Given the description of an element on the screen output the (x, y) to click on. 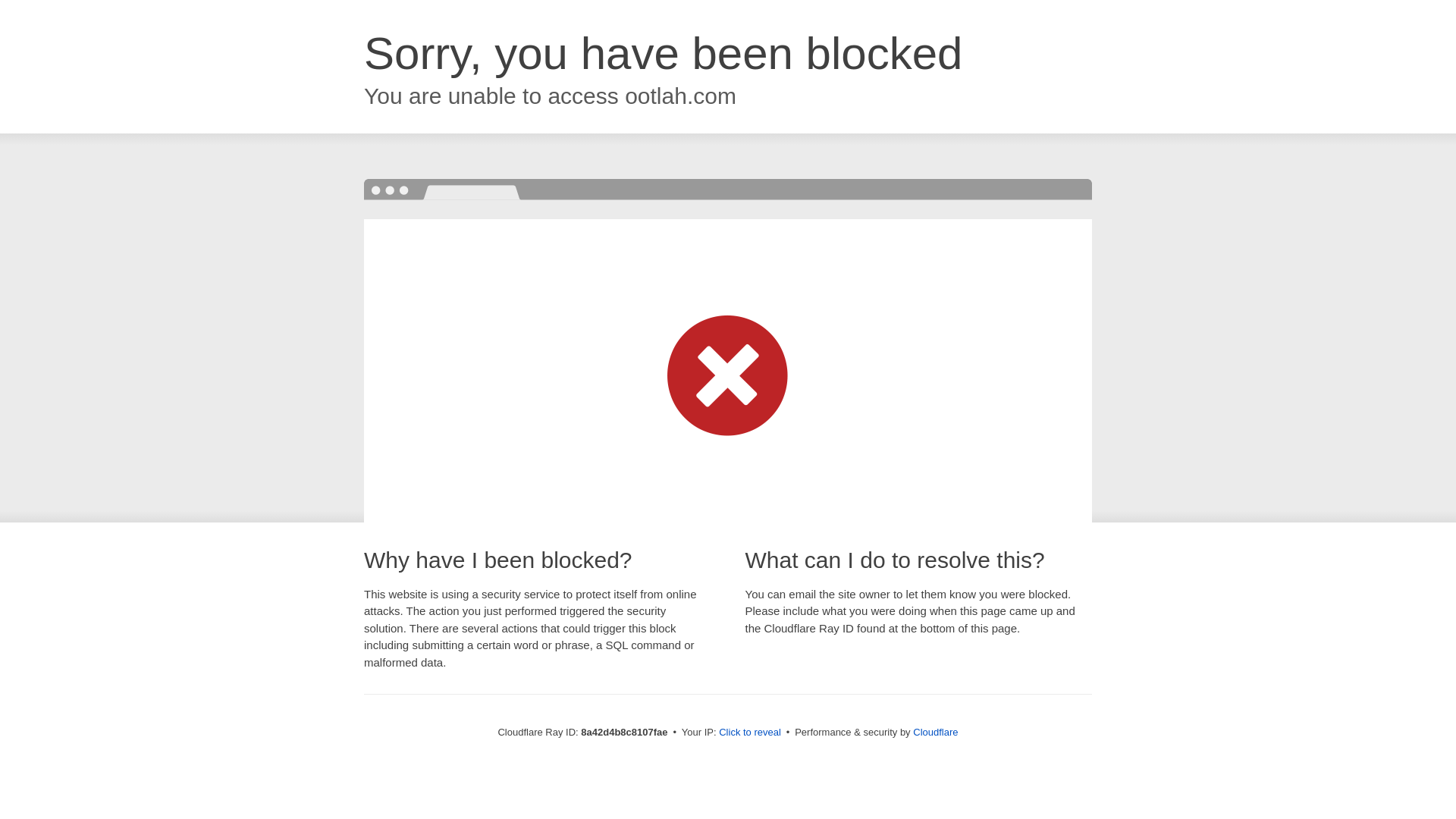
Click to reveal (749, 732)
Cloudflare (935, 731)
